Given the description of an element on the screen output the (x, y) to click on. 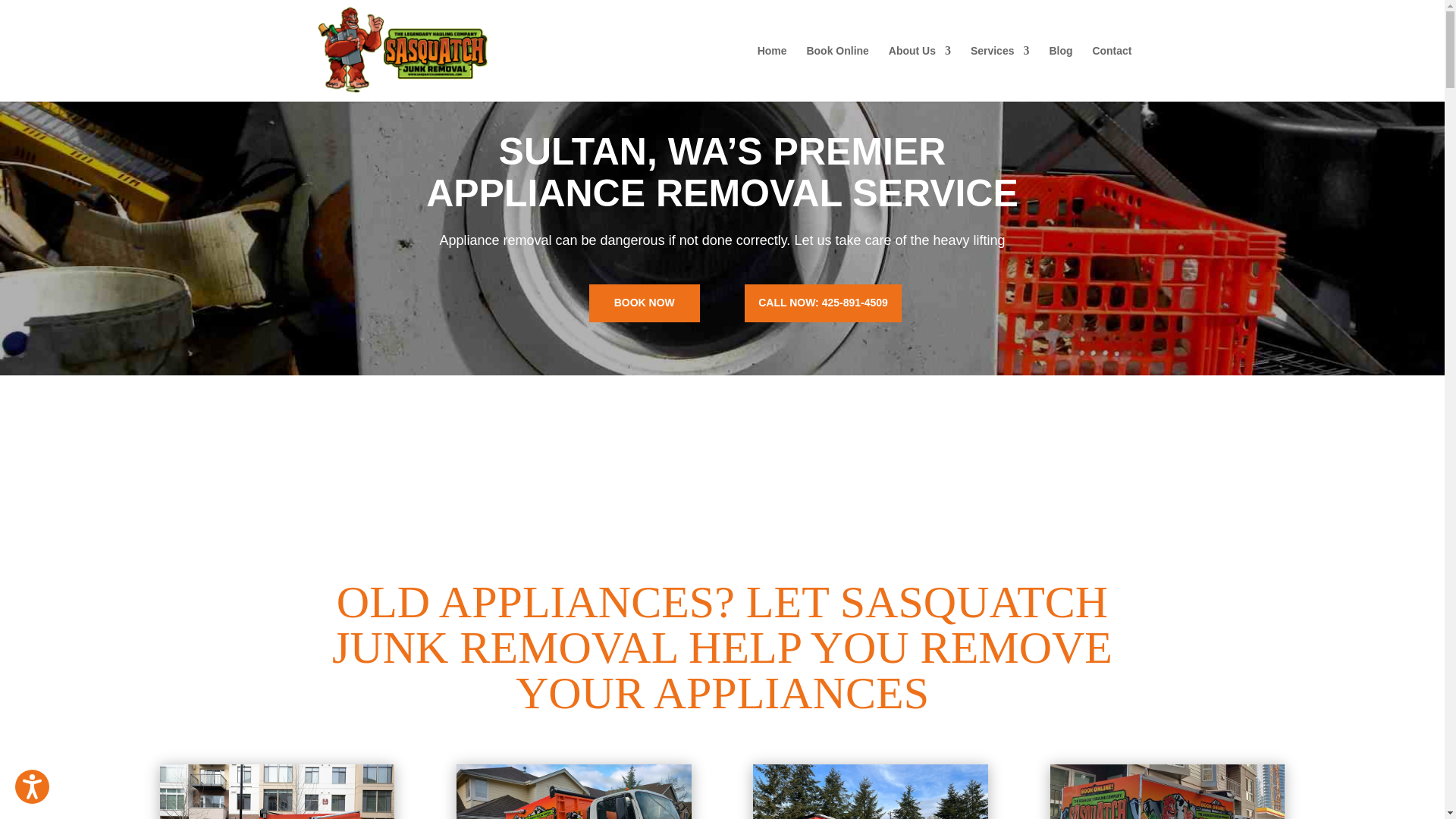
CALL NOW: 425-891-4509 (822, 303)
we recycle (276, 791)
fast-haul-1 (870, 791)
best-results-1 (1167, 791)
Services (1000, 73)
About Us (919, 73)
we-donate-1 (574, 791)
BOOK NOW (644, 303)
Book Online (836, 73)
